Given the description of an element on the screen output the (x, y) to click on. 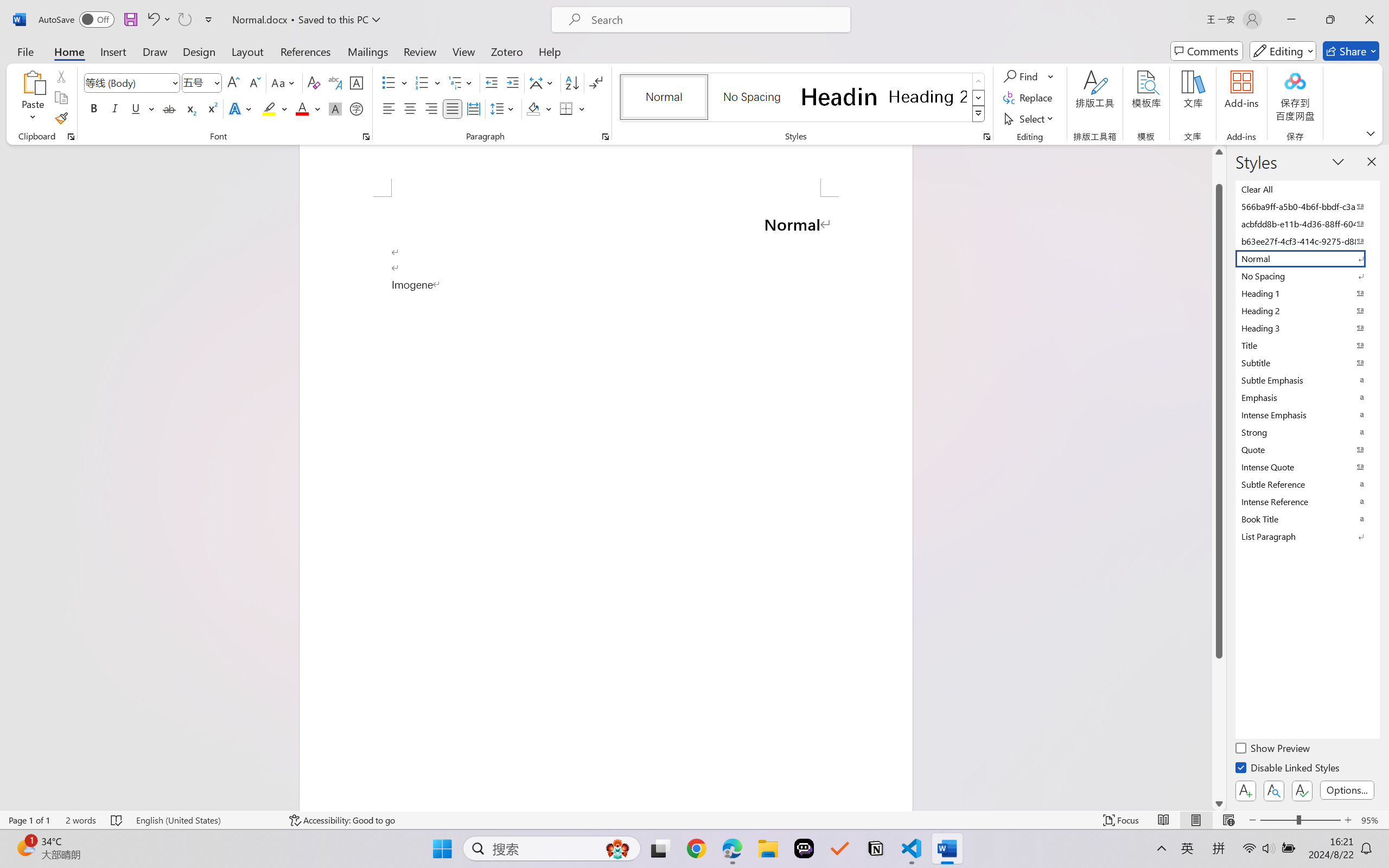
Font Color (308, 108)
Subtle Emphasis (1306, 379)
Class: NetUIButton (1301, 790)
Superscript (210, 108)
Office Clipboard... (70, 136)
Task Pane Options (1338, 161)
Enclose Characters... (356, 108)
